Given the description of an element on the screen output the (x, y) to click on. 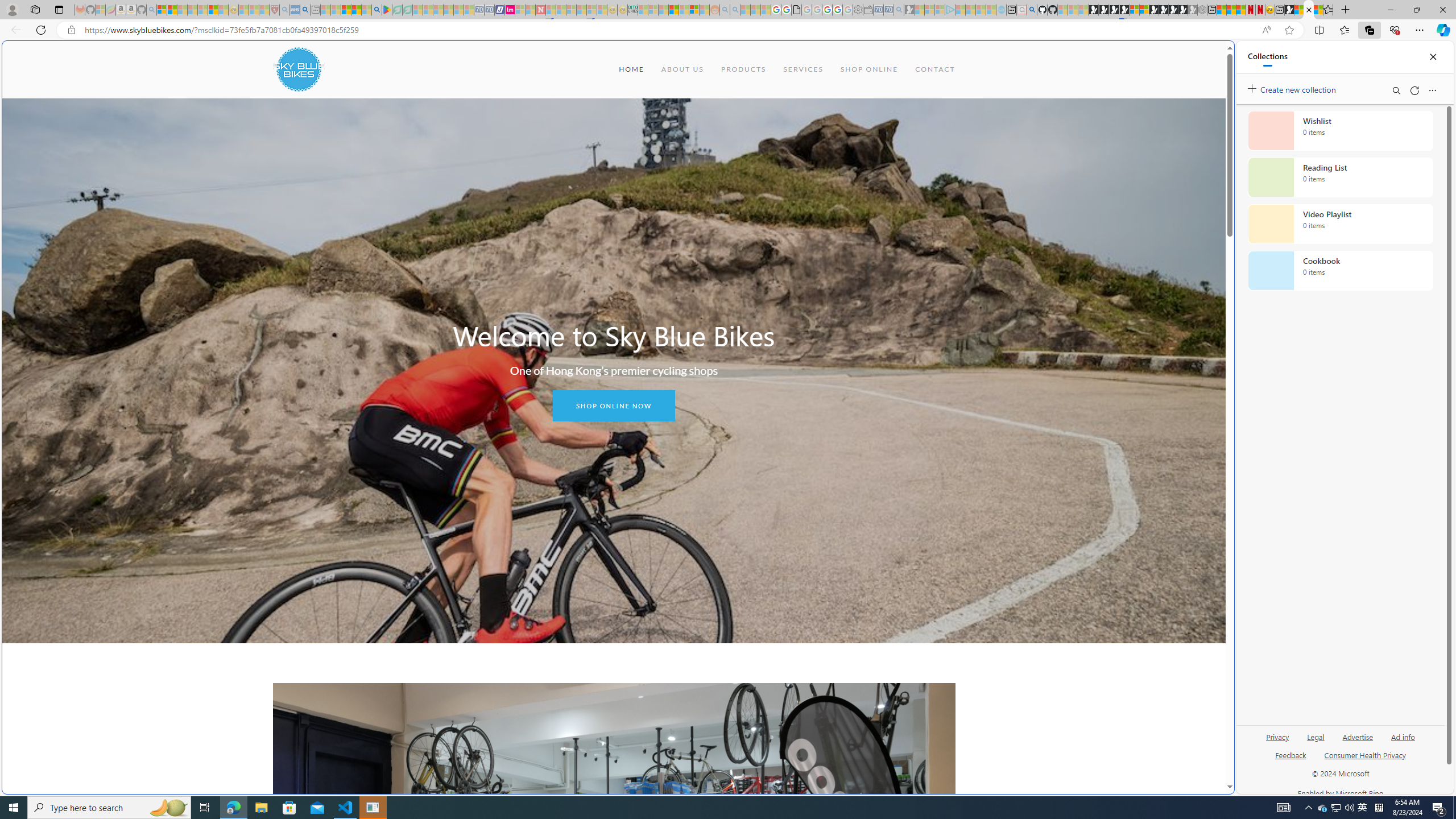
More options menu (1432, 90)
Video Playlist collection, 0 items (1339, 223)
